Given the description of an element on the screen output the (x, y) to click on. 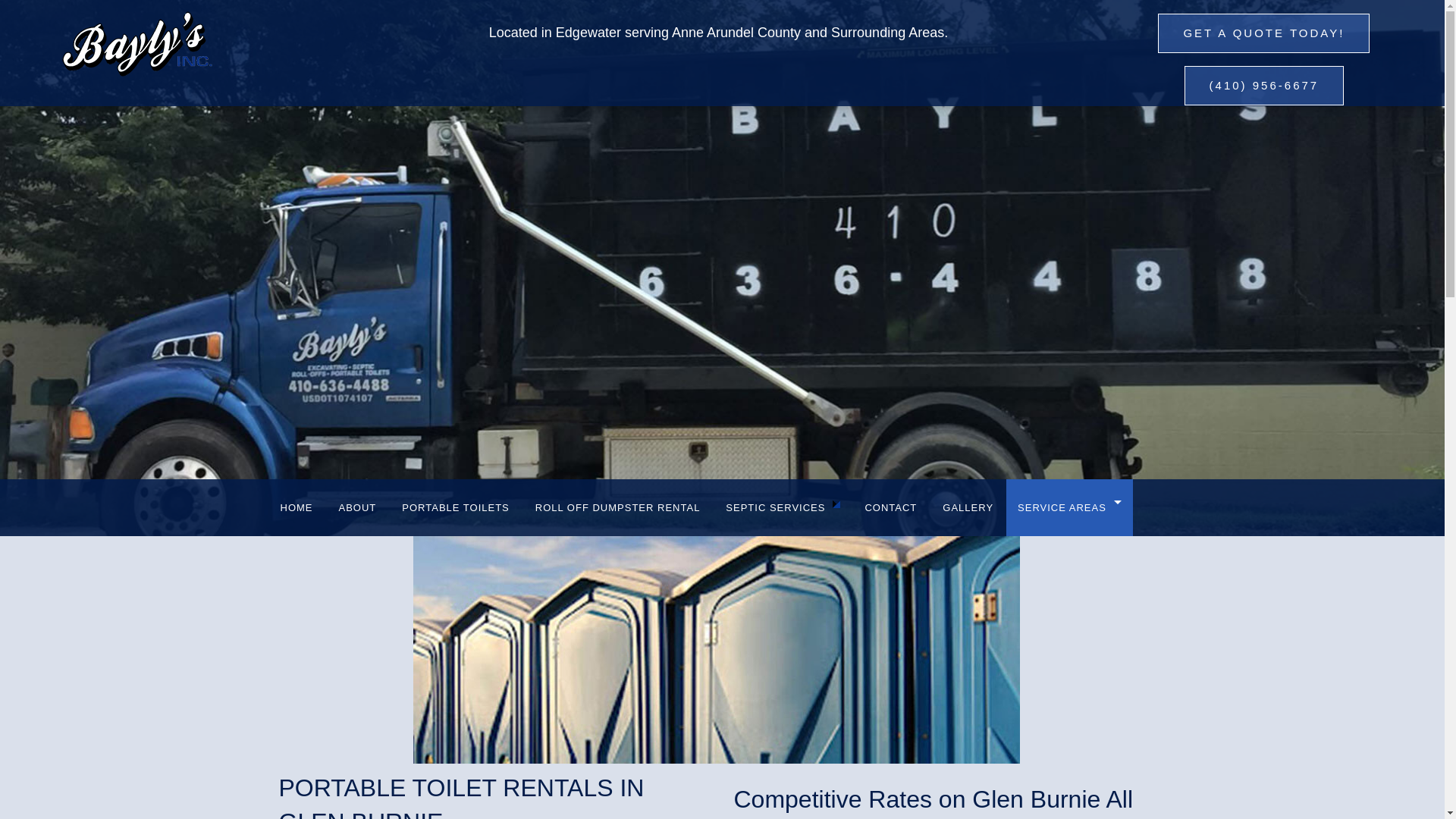
ABOUT (358, 507)
SERVICE AREAS (1069, 507)
SEPTIC SERVICES (782, 507)
HOME (295, 507)
GALLERY (968, 507)
ROLL OFF DUMPSTER RENTAL (617, 507)
GET A QUOTE TODAY! (1263, 33)
PORTABLE TOILETS (454, 507)
CONTACT (890, 507)
